Given the description of an element on the screen output the (x, y) to click on. 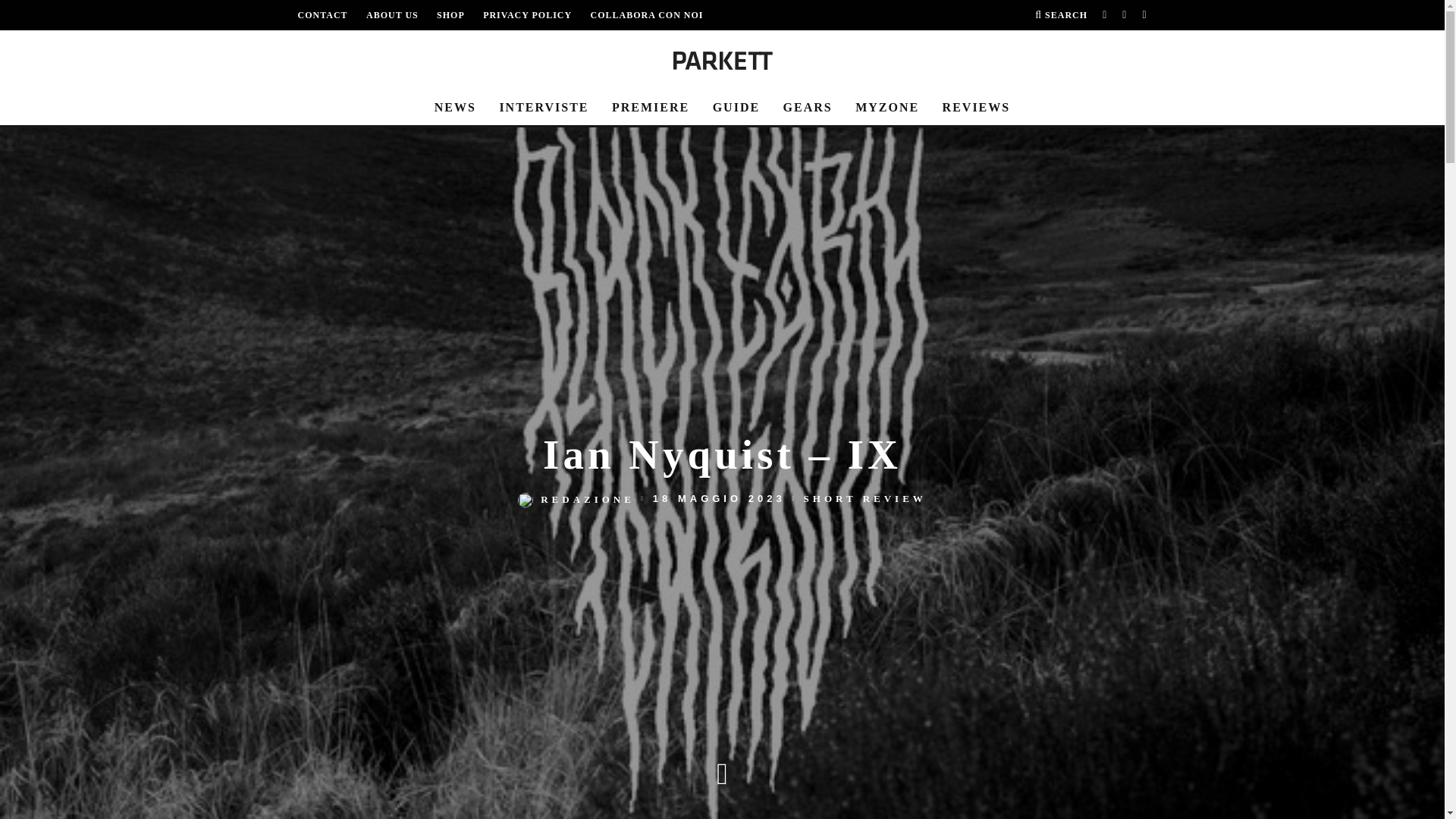
SEARCH (1061, 15)
PREMIERE (650, 107)
ABOUT US (392, 15)
CONTACT (322, 15)
View all posts in Short review (864, 498)
GUIDE (735, 107)
SHOP (450, 15)
COLLABORA CON NOI (646, 15)
Search (1061, 15)
PRIVACY POLICY (527, 15)
NEWS (454, 107)
INTERVISTE (542, 107)
